Given the description of an element on the screen output the (x, y) to click on. 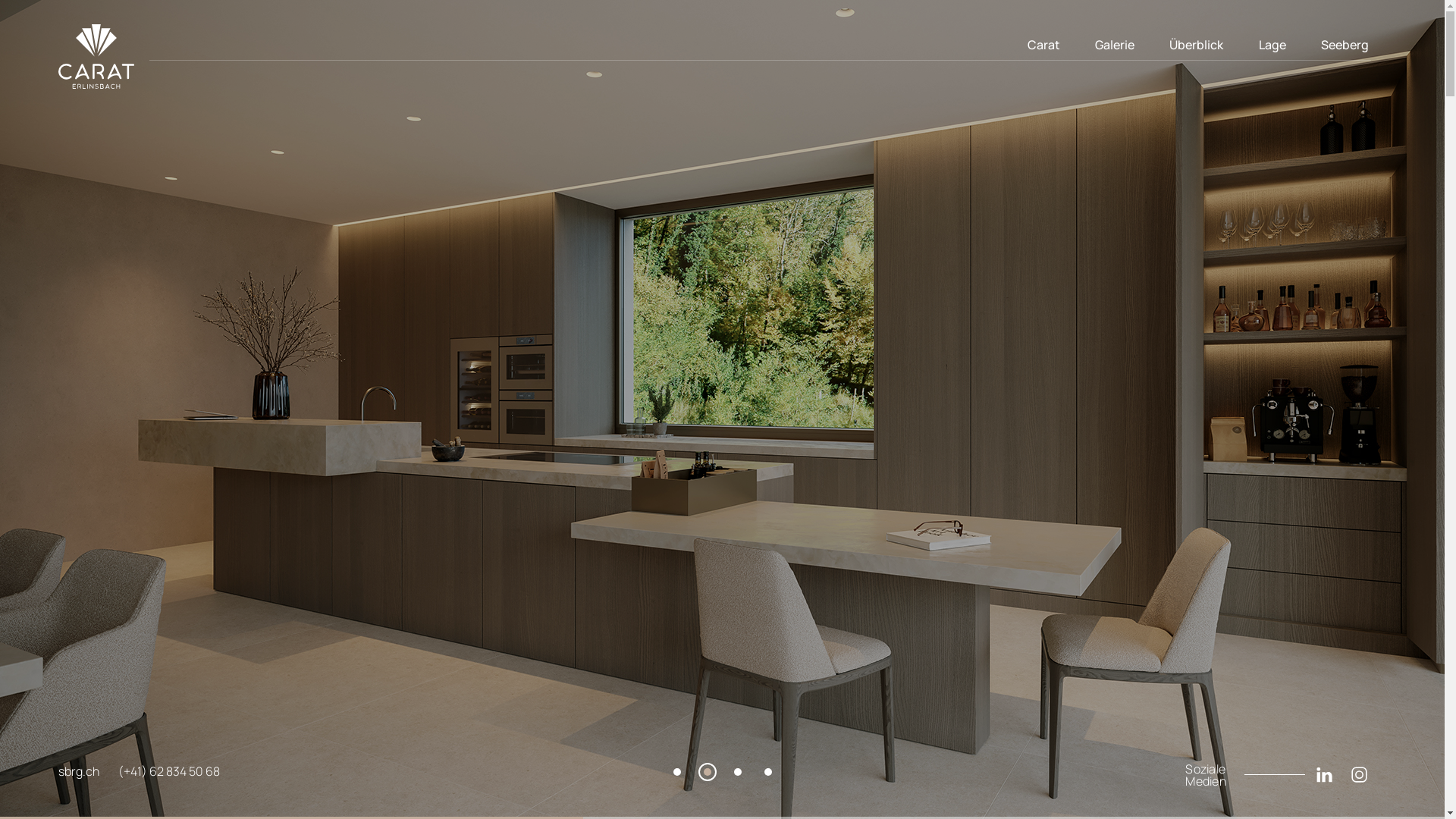
(+41) 62 834 50 68 Element type: text (178, 774)
Carat Element type: text (1042, 44)
2 Element type: text (707, 771)
1 Element type: text (676, 771)
Next Element type: text (1374, 409)
Seeberg Element type: text (1344, 44)
Previous Element type: text (69, 409)
4 Element type: text (767, 771)
Lage Element type: text (1271, 44)
sbrg.ch Element type: text (88, 774)
Galerie Element type: text (1114, 44)
3 Element type: text (737, 771)
